Given the description of an element on the screen output the (x, y) to click on. 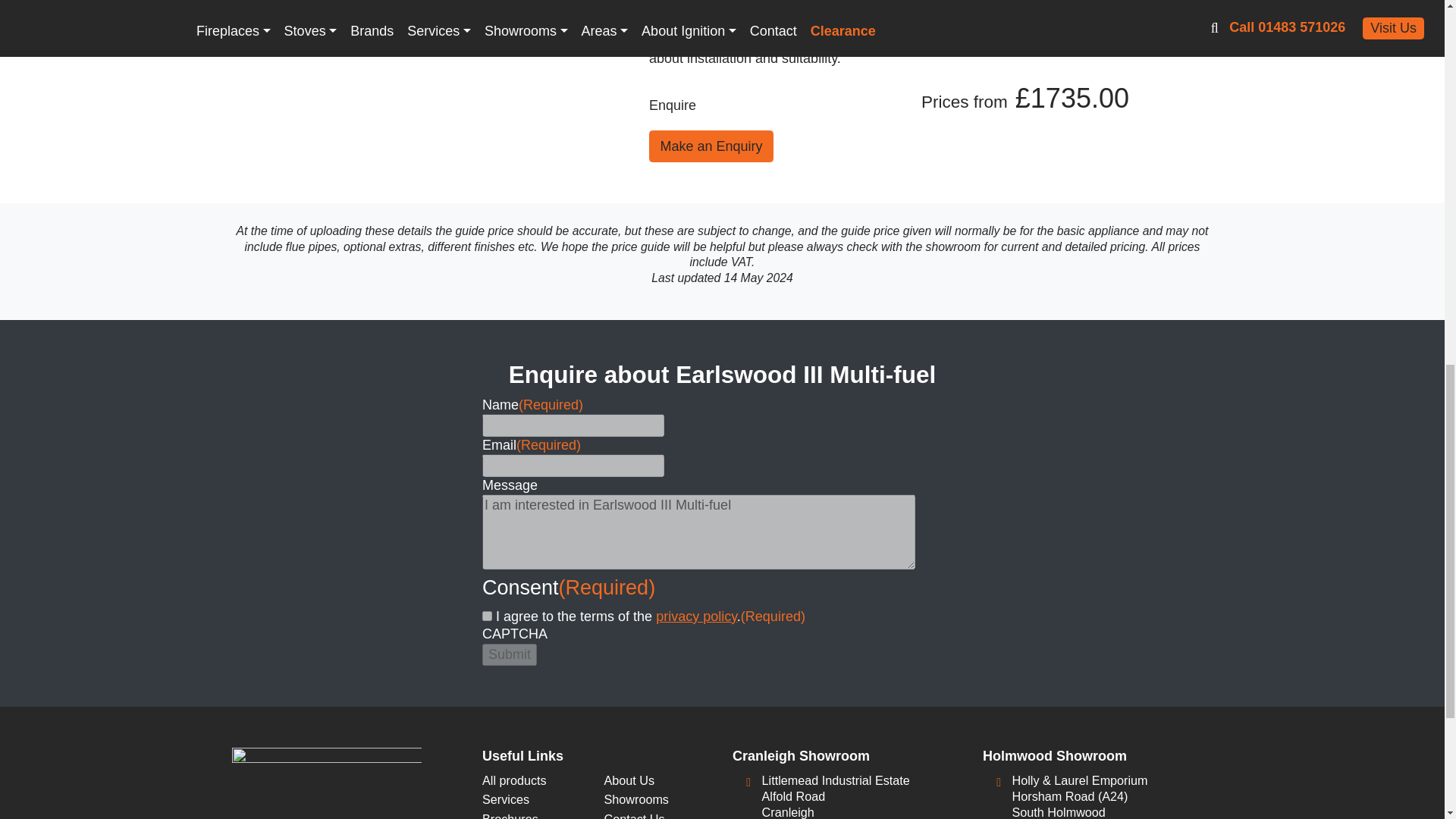
1 (486, 615)
Submit (509, 654)
